Given the description of an element on the screen output the (x, y) to click on. 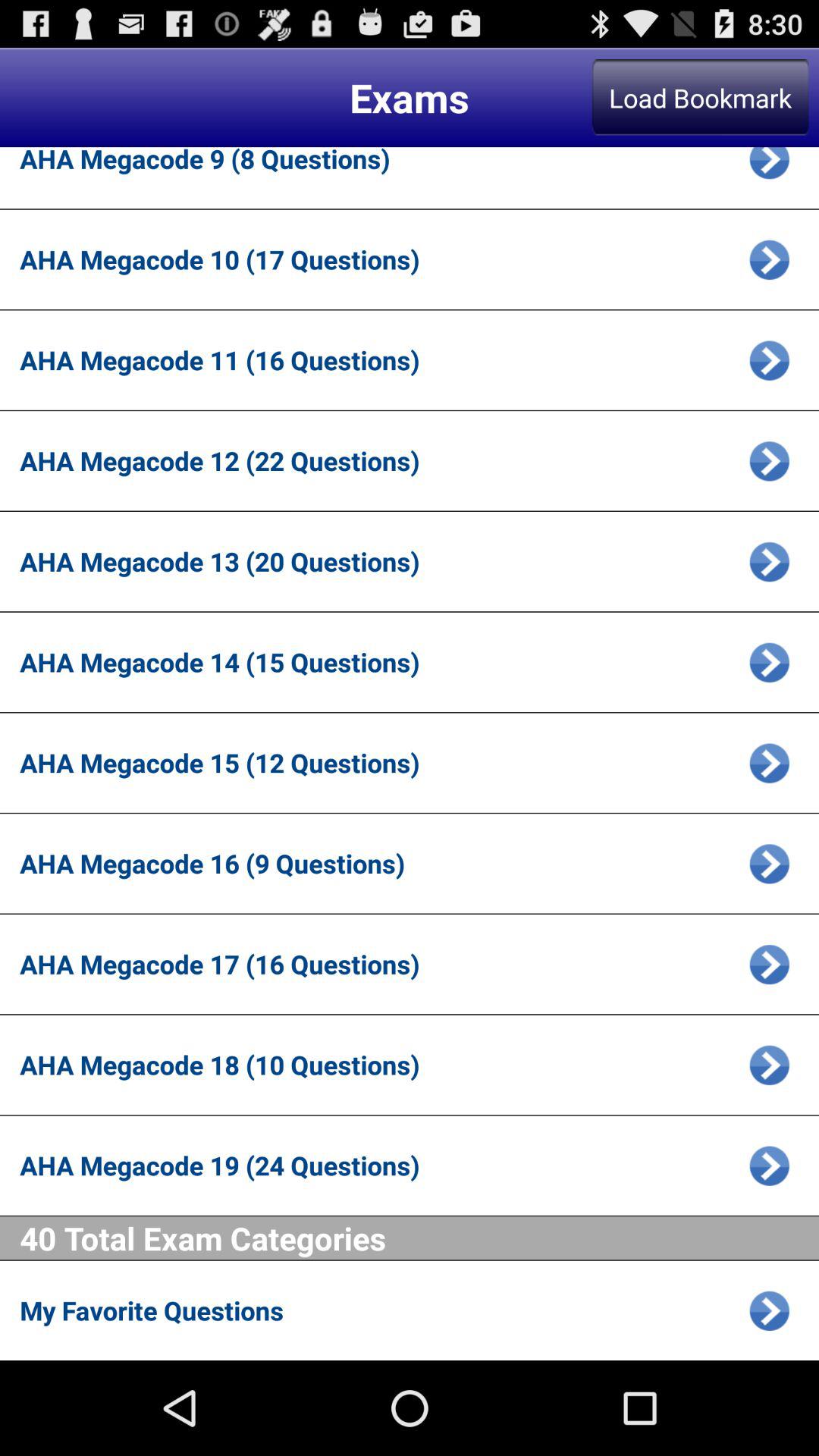
select text next to exams (700, 97)
click the blue icon in the first line (769, 168)
click on the blue icon in last line (769, 1310)
